Given the description of an element on the screen output the (x, y) to click on. 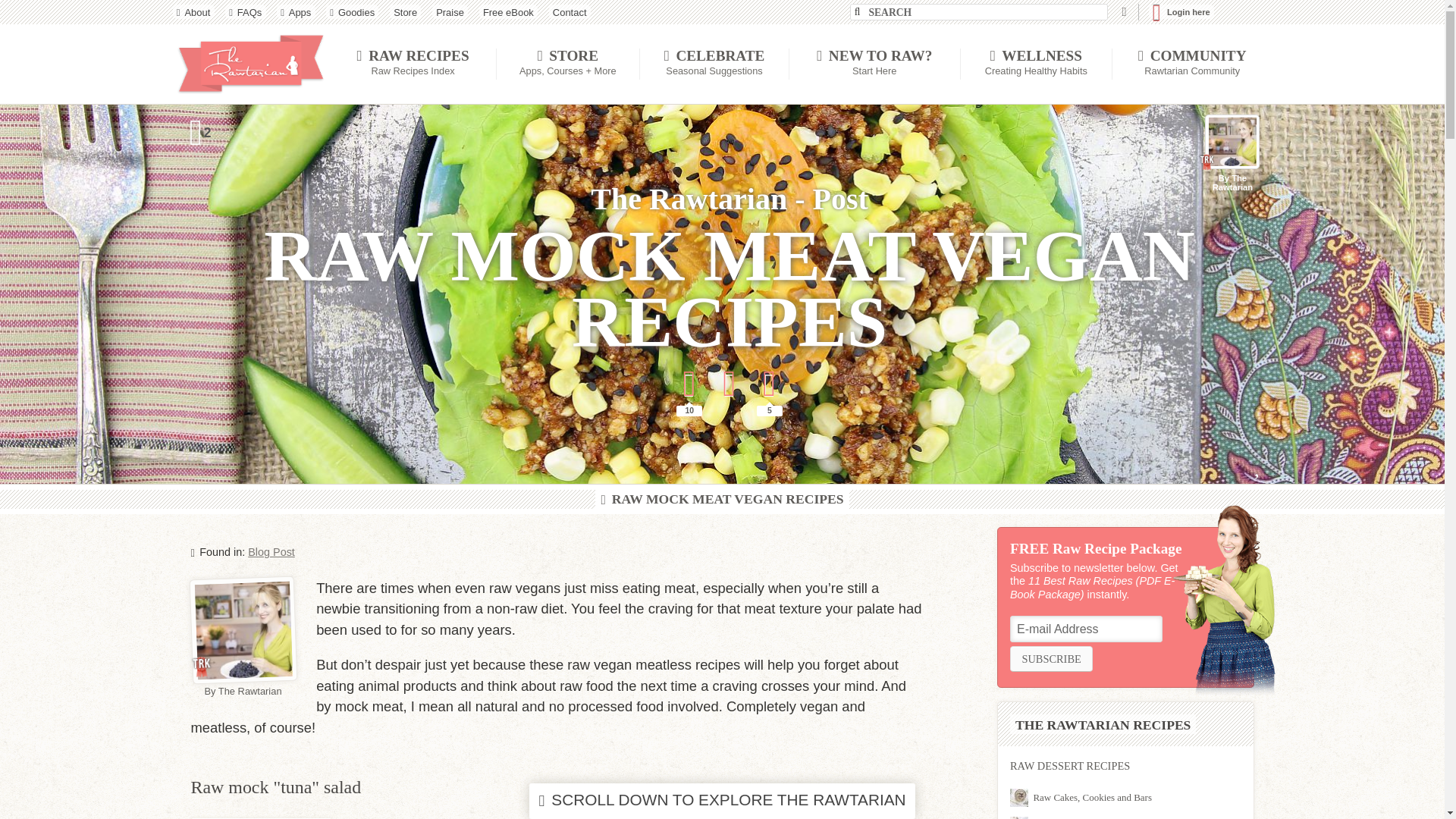
Apps (296, 11)
Subscribe (1051, 658)
Praise (449, 11)
Click to open the search interface (1122, 11)
Login here (1181, 11)
The Rawtarian Home (251, 63)
Raw Recipes Index (413, 63)
About (192, 11)
Contact (569, 11)
Free eBook (508, 11)
FAQs (244, 11)
Login to TRK (1181, 11)
Goodies (351, 11)
Store (405, 11)
